Given the description of an element on the screen output the (x, y) to click on. 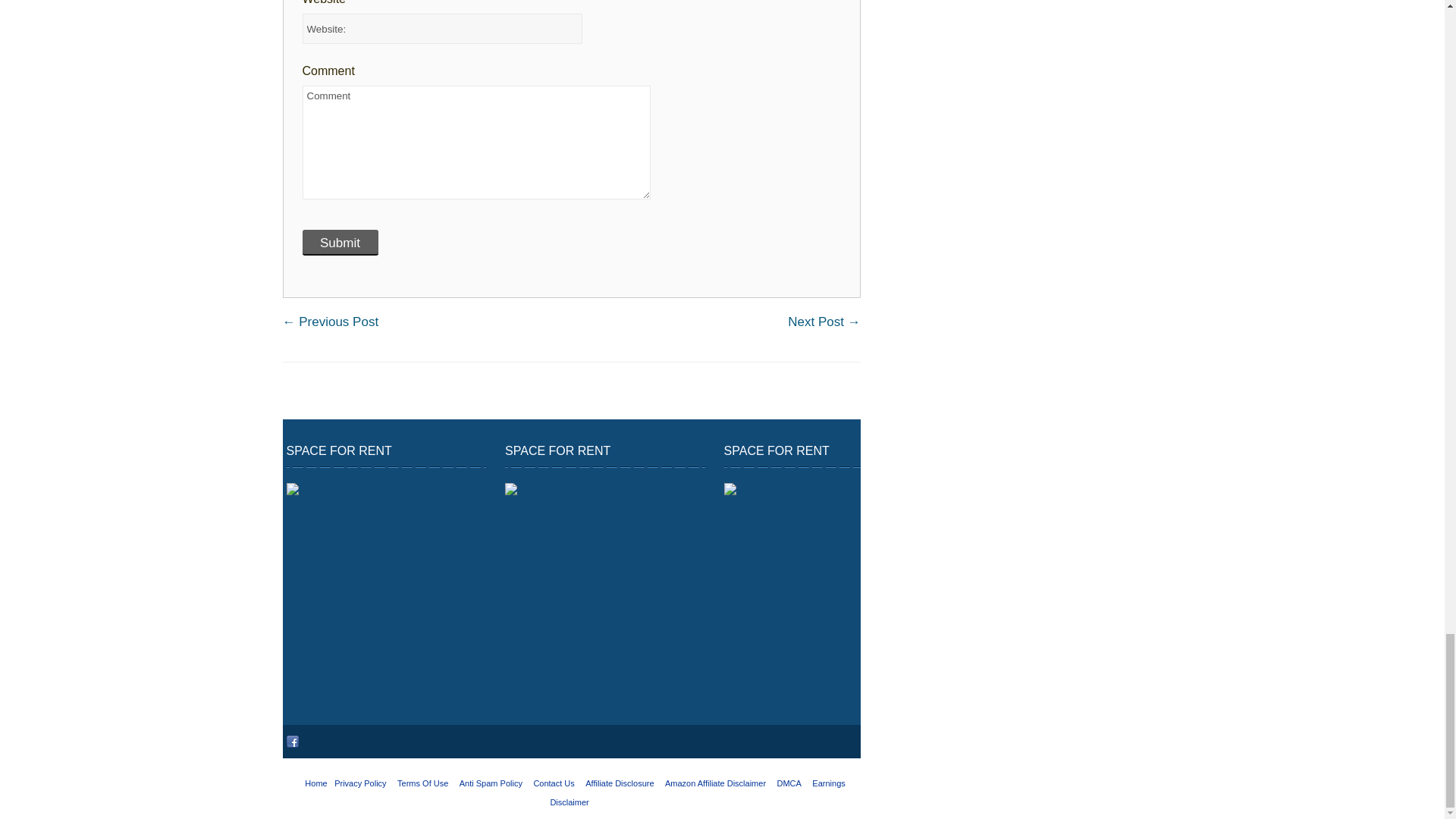
Submit (339, 242)
Terms Of Use (422, 782)
Anti Spam Policy (491, 782)
DMCA (789, 782)
Facebook (292, 741)
Home (315, 782)
Submit (339, 242)
Privacy Policy (359, 782)
Affiliate Disclosure (619, 782)
Contact Us (552, 782)
